Given the description of an element on the screen output the (x, y) to click on. 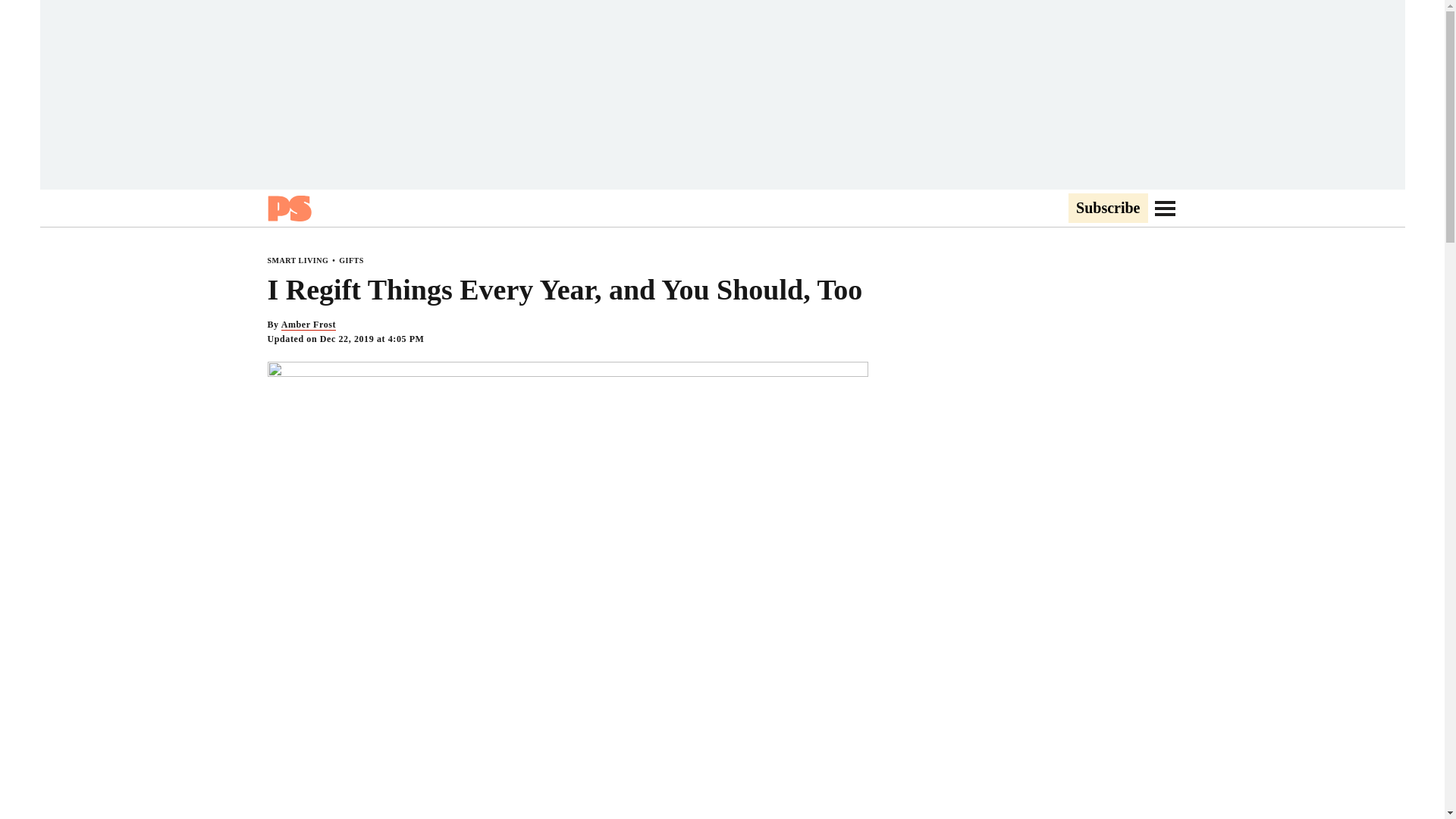
GIFTS (351, 260)
Go to Navigation (1164, 207)
Subscribe (1107, 208)
SMART LIVING (297, 260)
Amber Frost (308, 324)
Popsugar (288, 208)
Go to Navigation (1164, 207)
